Given the description of an element on the screen output the (x, y) to click on. 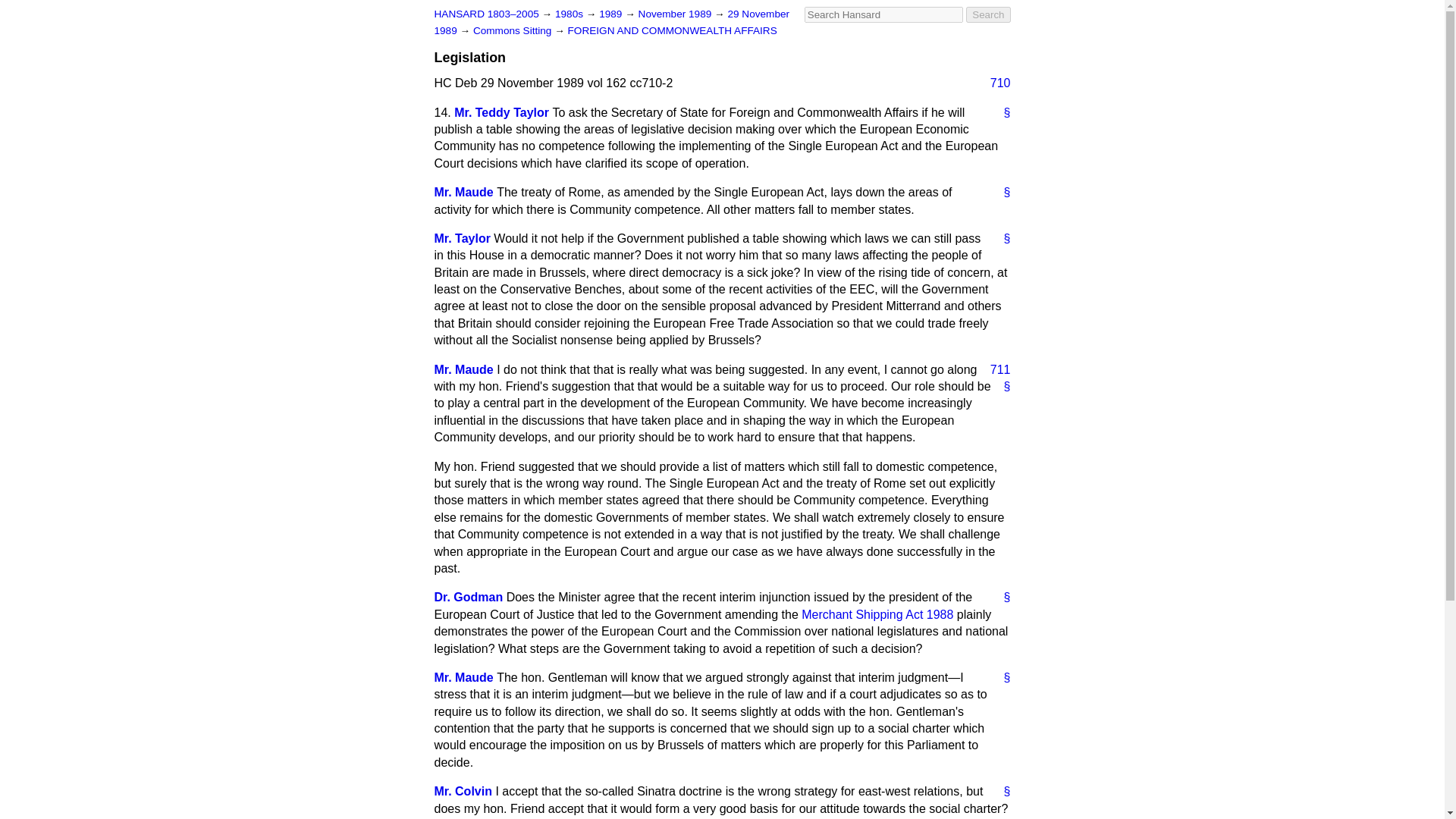
Link to this speech by Mr Teddy Taylor (1000, 112)
Mr. Maude (463, 676)
711 (994, 369)
Dr Norman Godman (467, 596)
Link to this speech by Mr Francis Maude (1000, 192)
Commons Sitting (513, 30)
Mr. Colvin (462, 790)
Link to this speech by Mr Teddy Taylor (1000, 238)
Mr. Maude (463, 369)
Mr Francis Maude (463, 369)
